Given the description of an element on the screen output the (x, y) to click on. 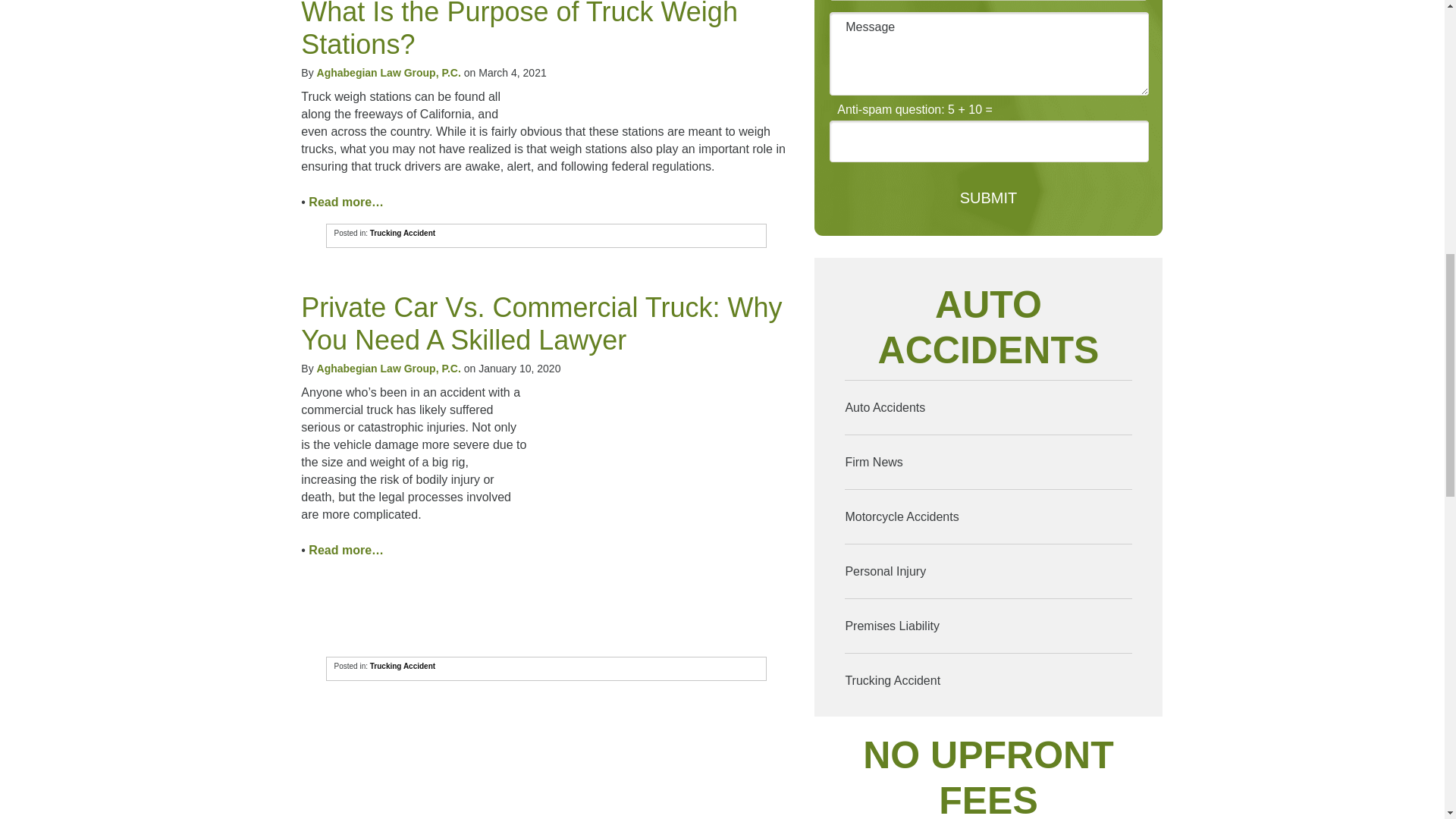
Aghabegian Law Group, P.C. (389, 72)
Premises Liability (987, 625)
Aghabegian Law Group, P.C. (389, 368)
Trucking Accident (402, 233)
Personal Injury (987, 571)
Firm News (987, 461)
Trucking Accident (402, 665)
Submit (988, 198)
What Is the Purpose of Truck Weigh Stations? (519, 29)
Submit (988, 198)
Trucking Accident (987, 680)
What Is the Purpose of Truck Weigh Stations? (519, 29)
Auto Accidents (987, 407)
Motorcycle Accidents (987, 516)
